Given the description of an element on the screen output the (x, y) to click on. 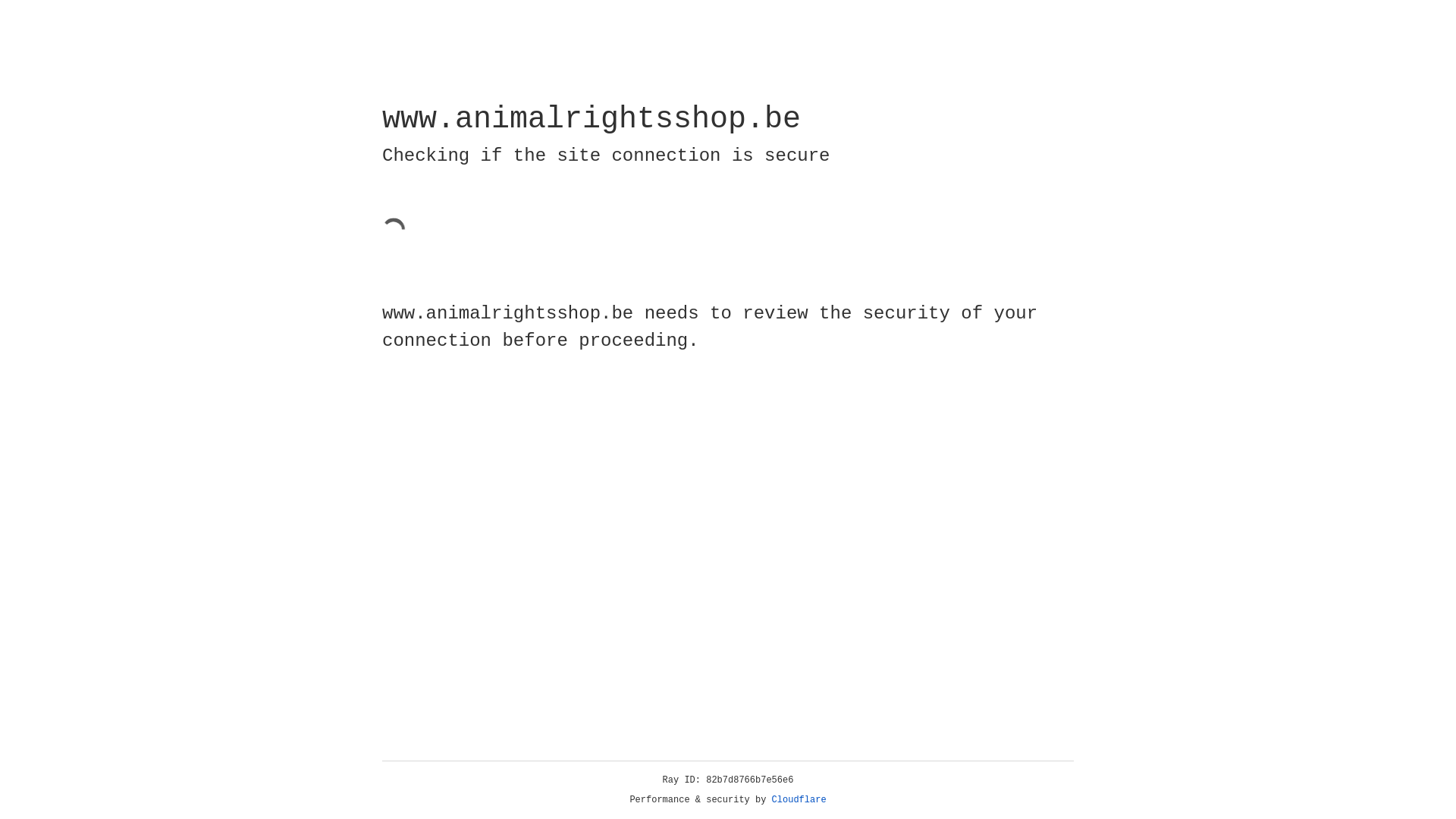
Cloudflare Element type: text (798, 799)
